Given the description of an element on the screen output the (x, y) to click on. 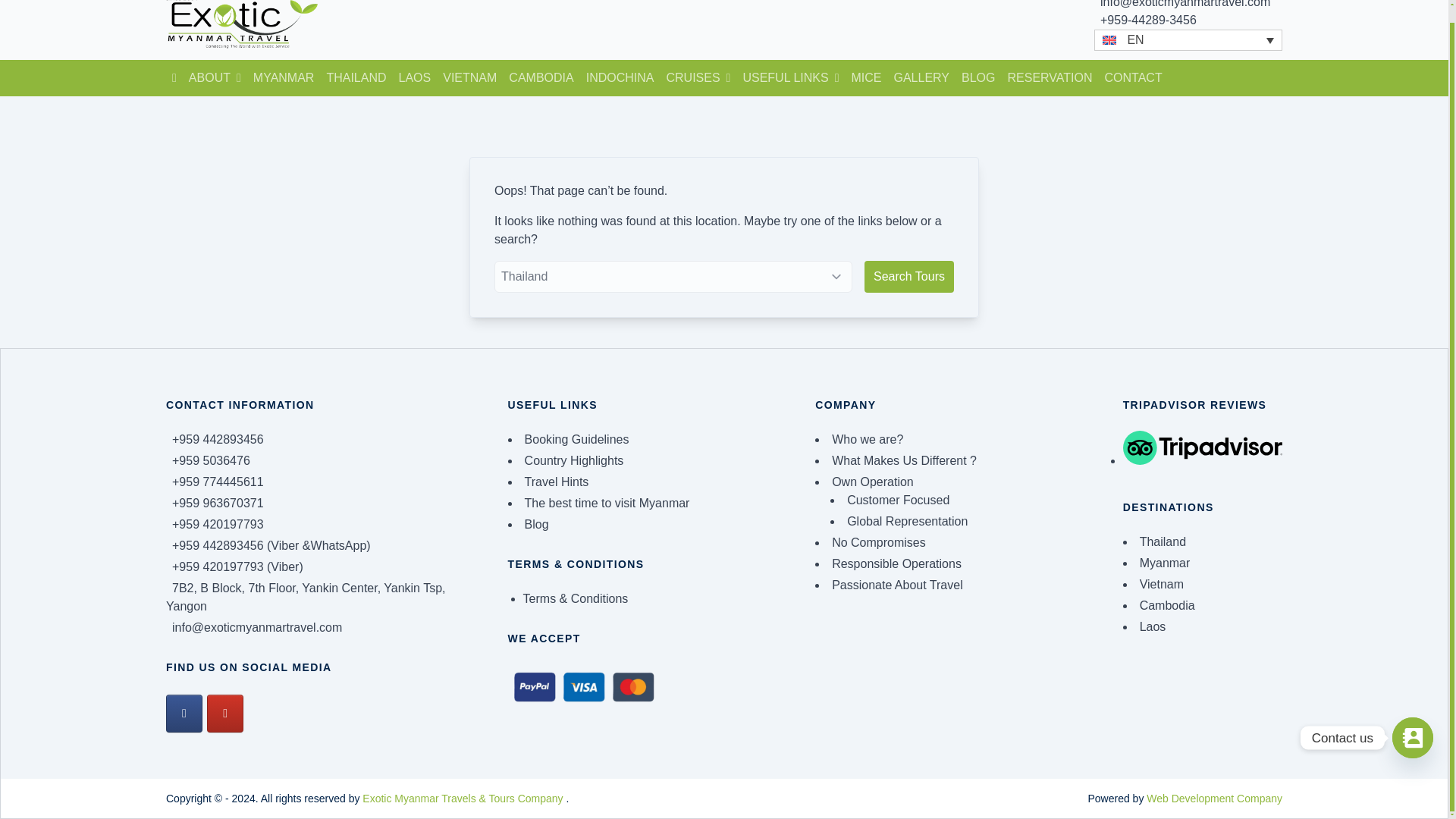
ABOUT (215, 77)
BLOG (978, 77)
Search Tours (908, 276)
CAMBODIA (540, 77)
THAILAND (355, 77)
GALLERY (920, 77)
VIETNAM (469, 77)
USEFUL LINKS (790, 77)
INDOCHINA (620, 77)
LAOS (415, 77)
MYANMAR (283, 77)
Web Development Company (1214, 798)
MICE (865, 77)
CRUISES (697, 77)
EN (1188, 39)
